Given the description of an element on the screen output the (x, y) to click on. 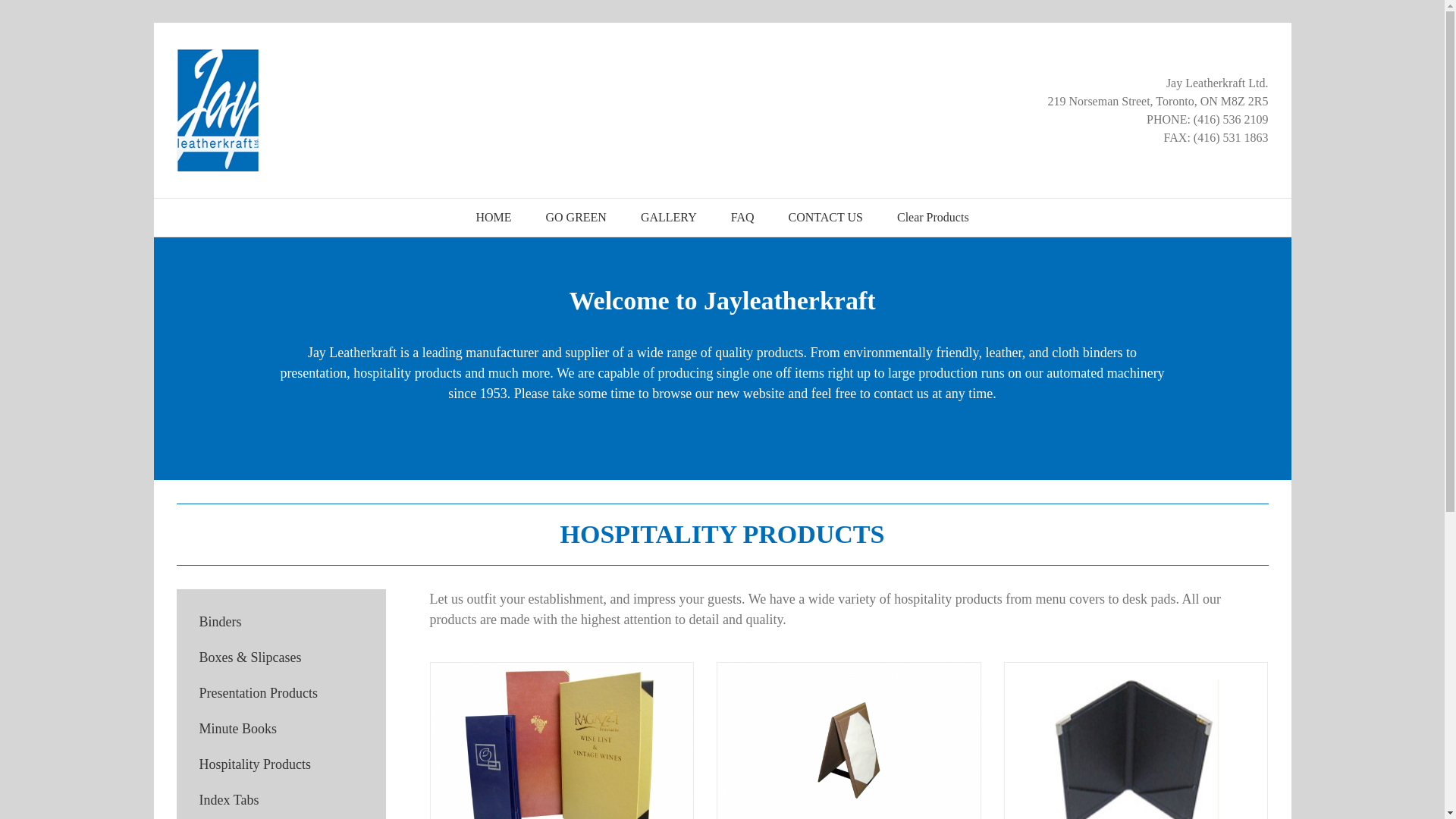
GO GREEN (575, 217)
HOME (493, 217)
Clear Products (932, 217)
FAQ (742, 217)
Index Tabs (228, 799)
Minute Books (237, 728)
Binders (219, 621)
GALLERY (668, 217)
CONTACT US (825, 217)
Presentation Products (257, 693)
